Given the description of an element on the screen output the (x, y) to click on. 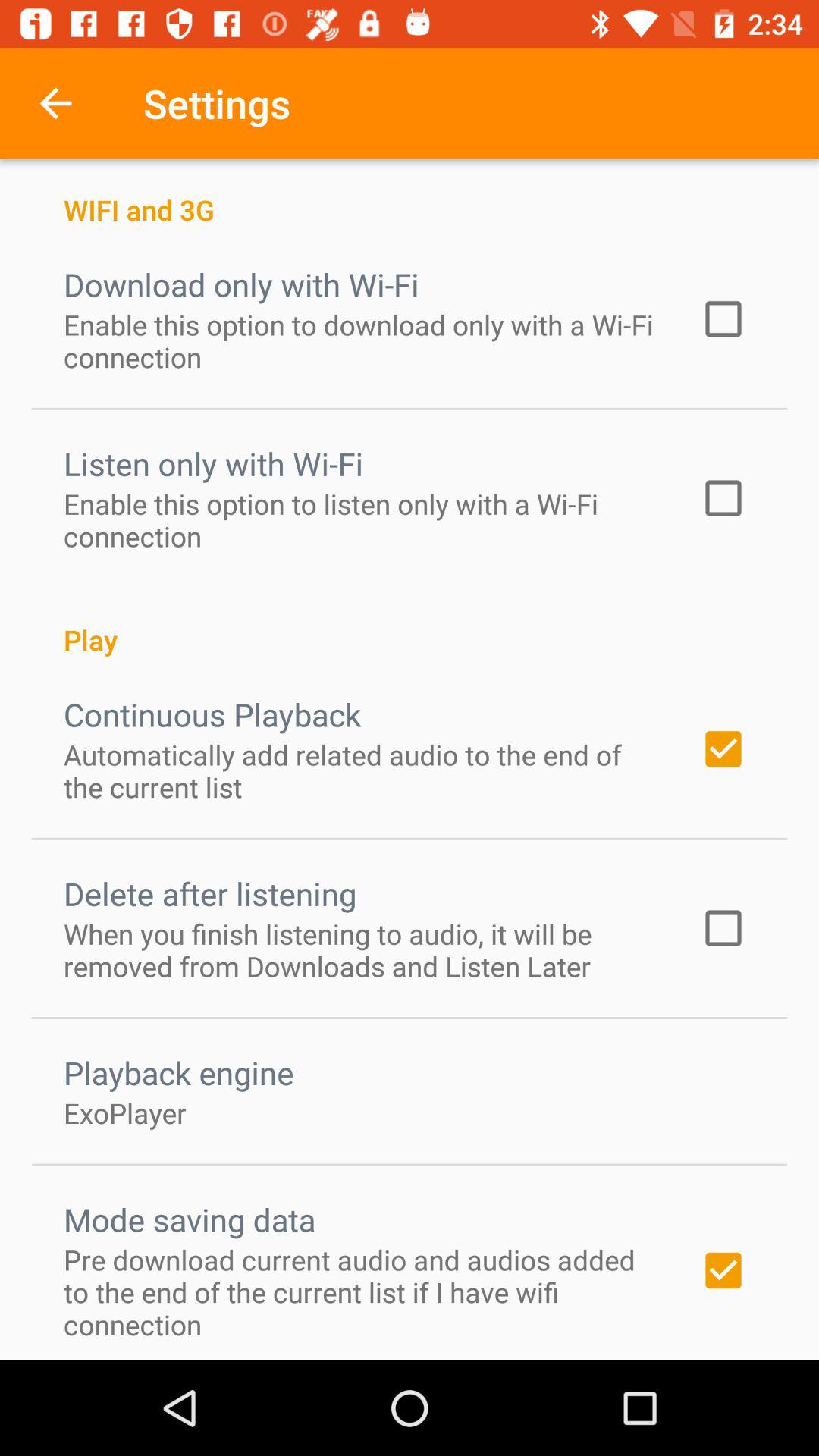
tap the item above the when you finish (209, 893)
